Given the description of an element on the screen output the (x, y) to click on. 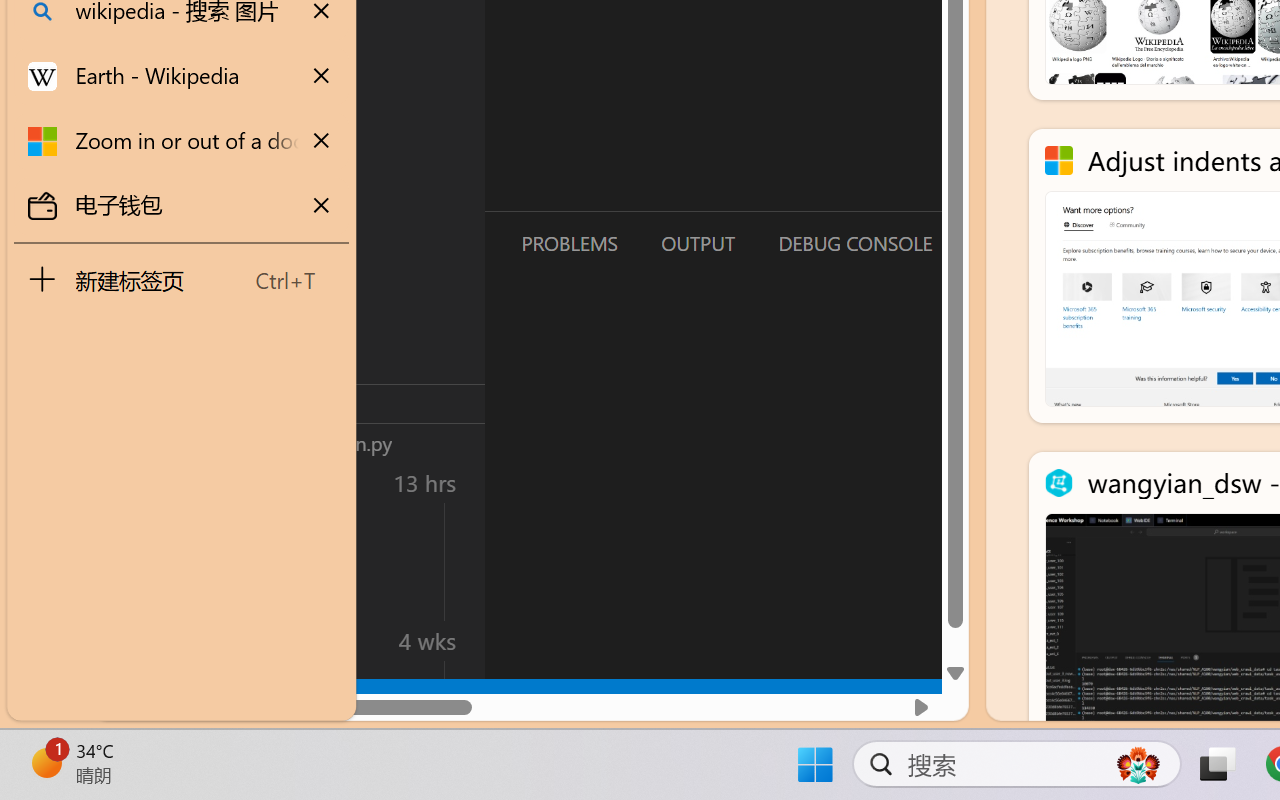
Problems (Ctrl+Shift+M) (567, 243)
Earth - Wikipedia (181, 75)
Output (Ctrl+Shift+U) (696, 243)
remote (122, 698)
Timeline Section (331, 442)
Accounts - Sign in requested (135, 548)
Manage (135, 591)
Terminal (Ctrl+`) (1021, 243)
Manage (135, 635)
